Given the description of an element on the screen output the (x, y) to click on. 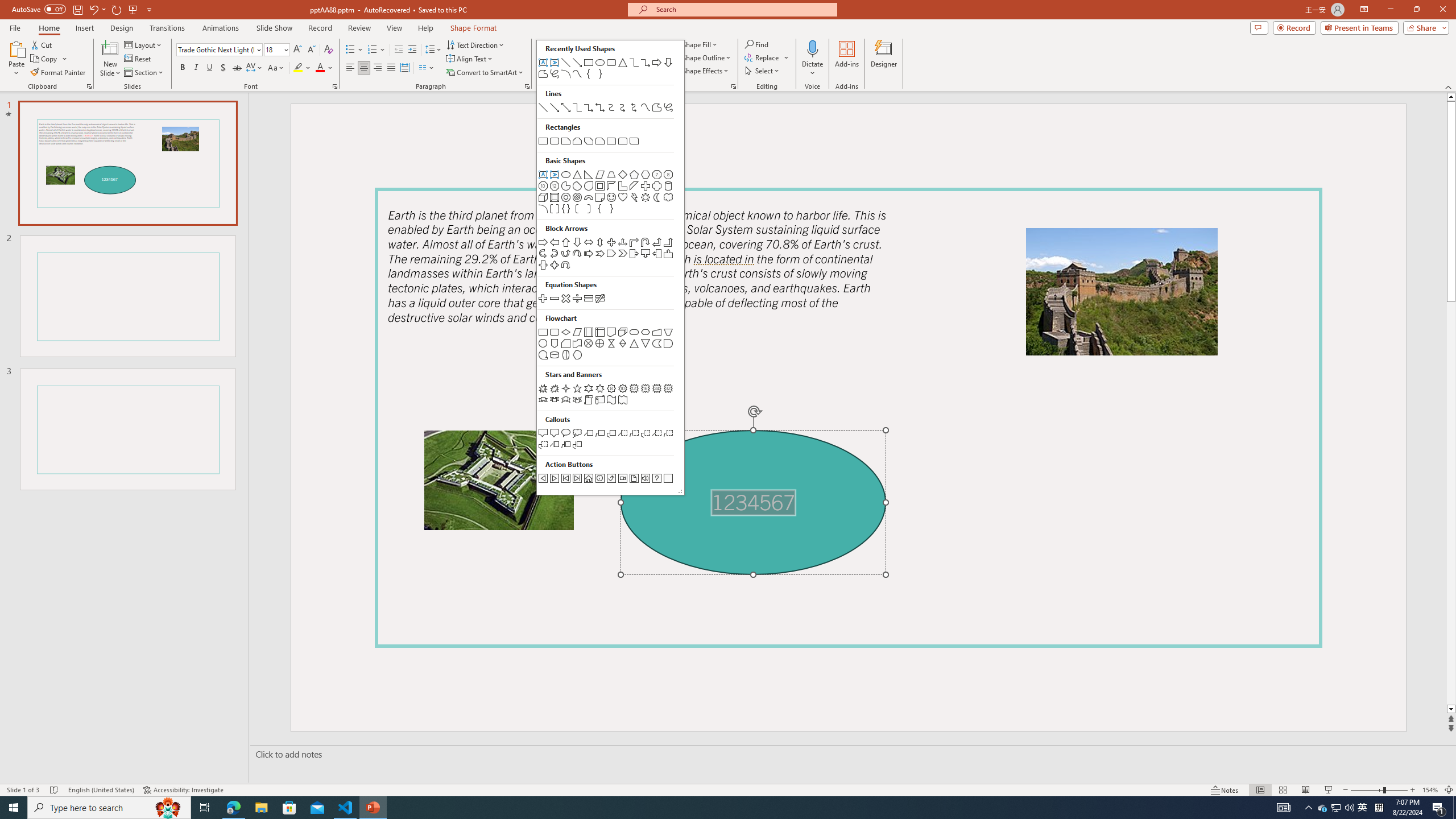
Class: Net UI Tool Window (609, 267)
